Given the description of an element on the screen output the (x, y) to click on. 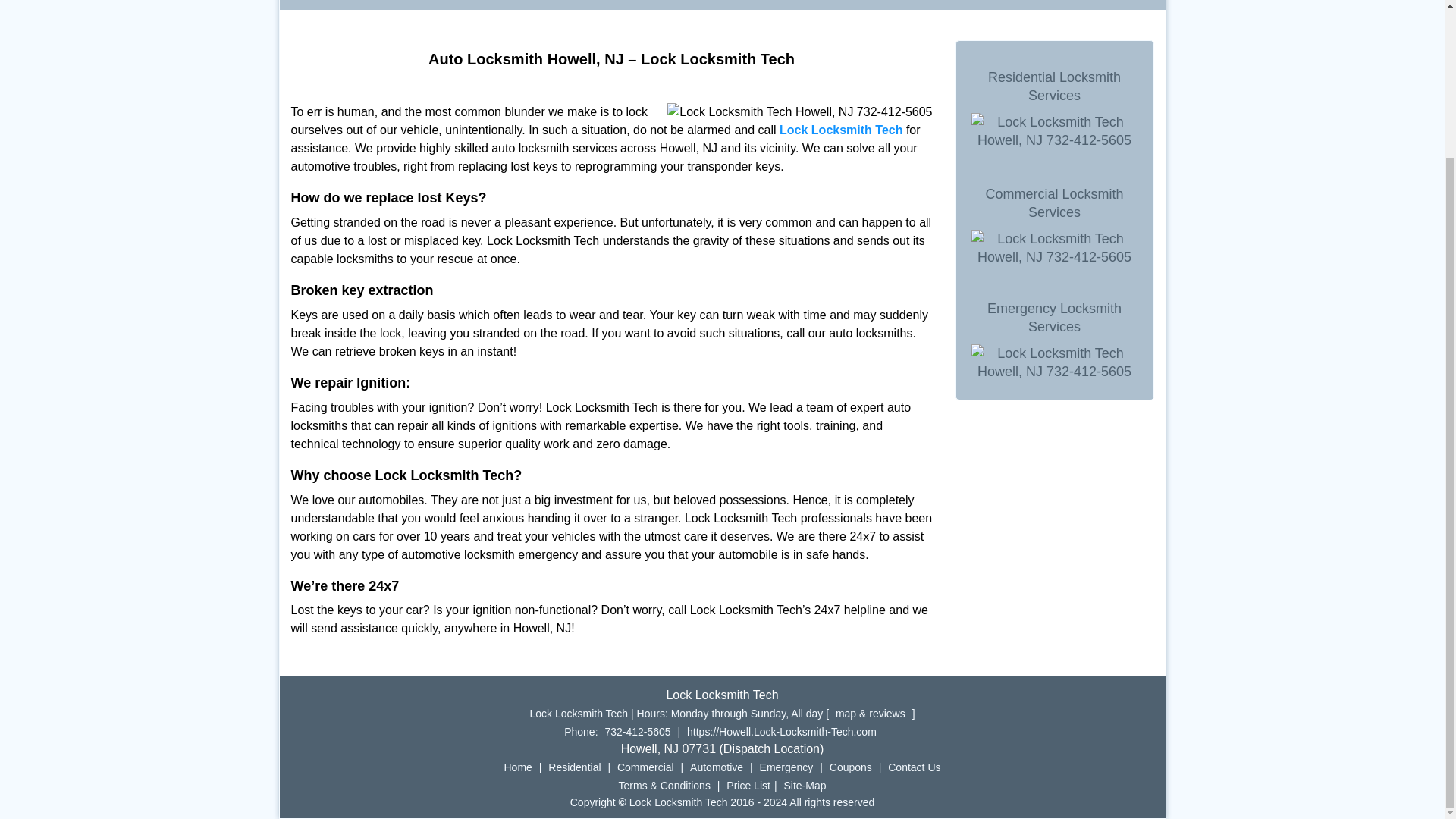
Lock Locksmith Tech Howell, NJ 732-412-5605 (1054, 361)
Coupons (850, 767)
Automotive (715, 767)
Contact Us (913, 767)
Residential Locksmith Services (1054, 85)
732-412-5605 (636, 731)
Home (517, 767)
Commercial (645, 767)
Lock Locksmith Tech (840, 129)
Lock Locksmith Tech Howell, NJ 732-412-5605 (798, 112)
Price List (748, 785)
Emergency (785, 767)
Lock Locksmith Tech Howell, NJ 732-412-5605 (1054, 248)
Lock Locksmith Tech Howell, NJ 732-412-5605 (1054, 131)
Emergency Locksmith Services (1054, 317)
